Given the description of an element on the screen output the (x, y) to click on. 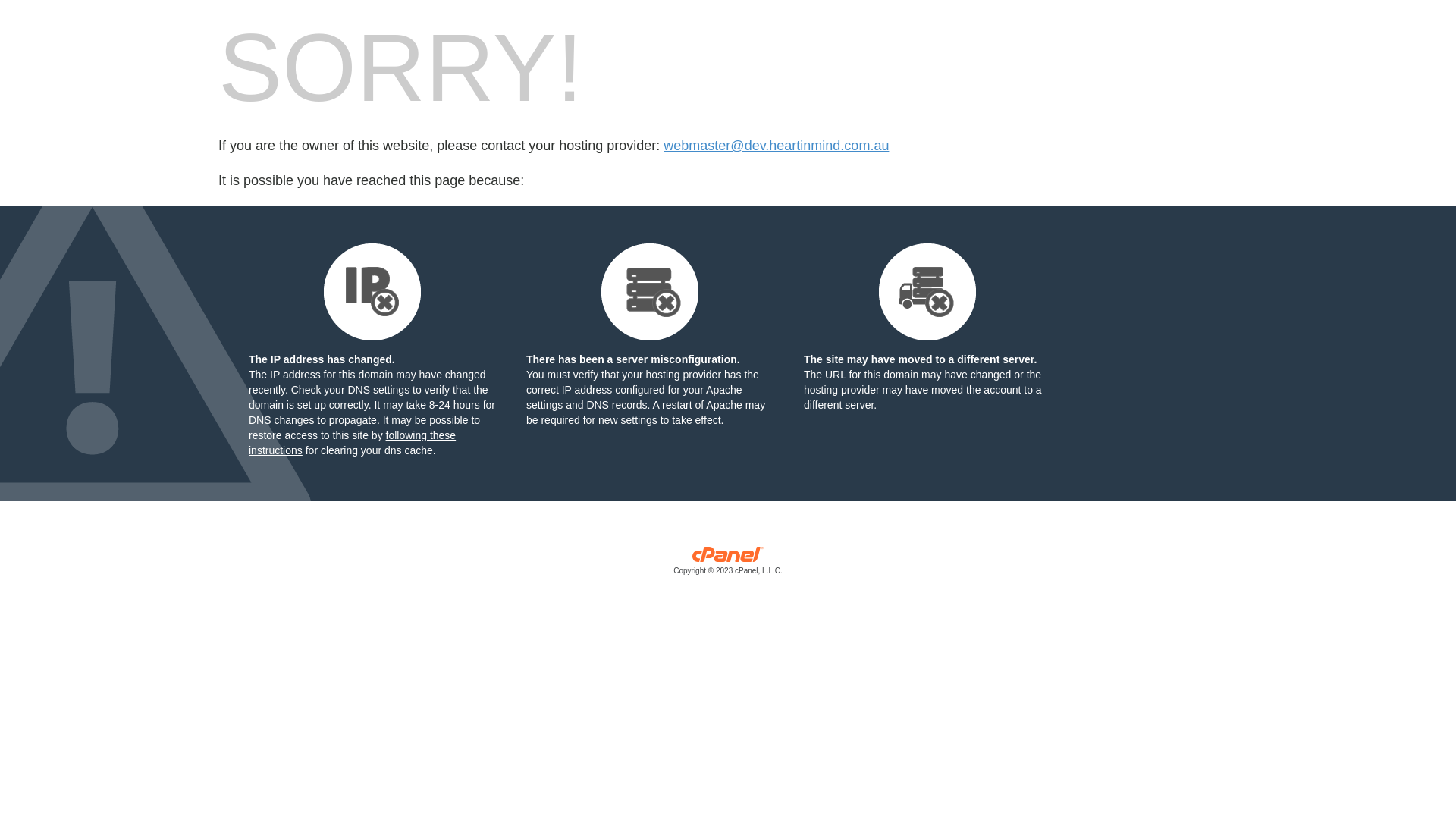
following these instructions Element type: text (351, 442)
webmaster@dev.heartinmind.com.au Element type: text (775, 145)
